Given the description of an element on the screen output the (x, y) to click on. 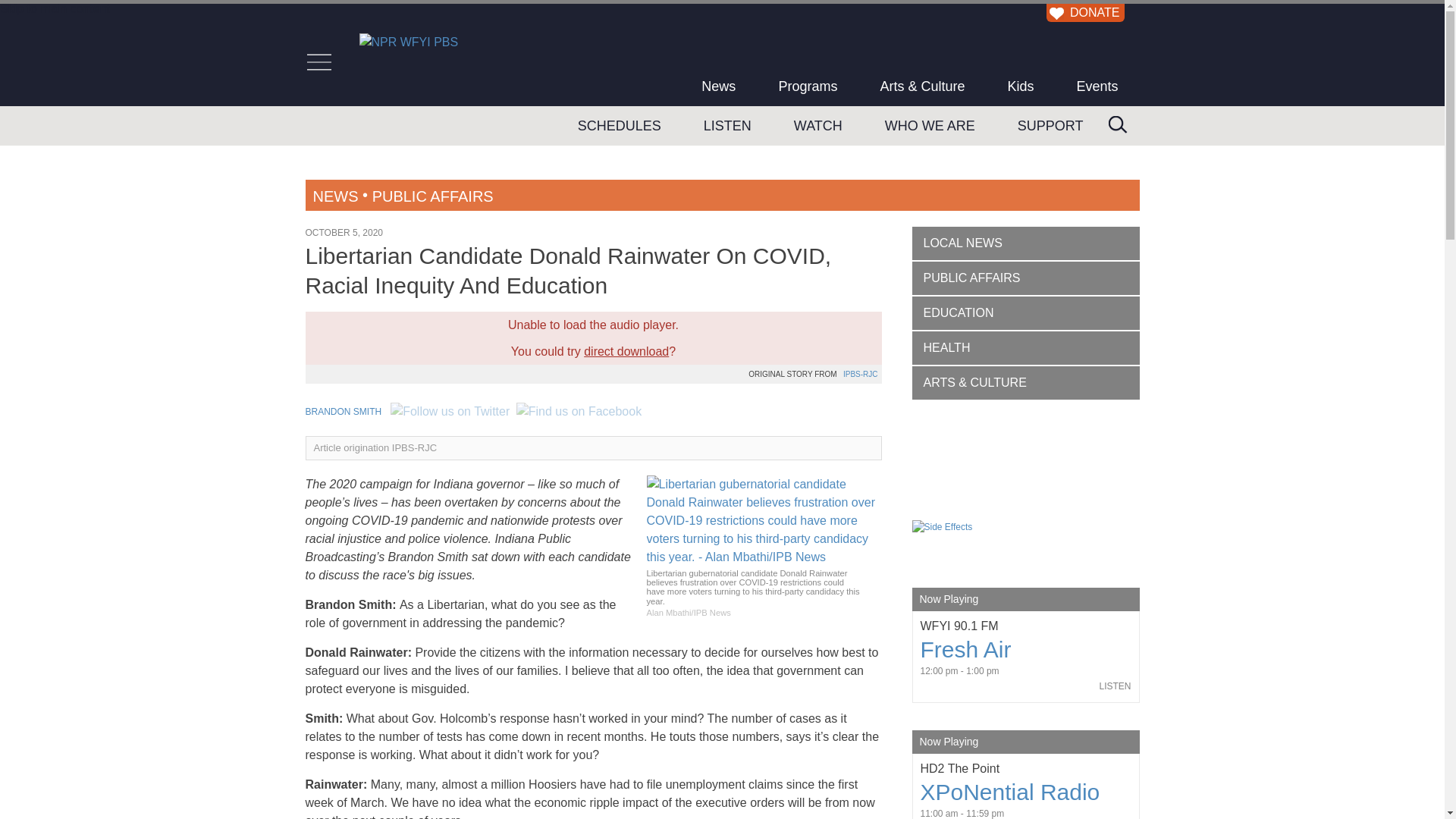
DONATE (1082, 11)
PUBLIC AFFAIRS (432, 195)
Kids (1019, 86)
Skip to main content (55, 9)
SCHEDULES (619, 125)
SUPPORT (1050, 125)
WATCH (818, 125)
WHO WE ARE (929, 125)
Programs (808, 86)
Menu (317, 61)
News (718, 86)
Events (1096, 86)
direct download (625, 350)
LISTEN (727, 125)
IPBS-RJC (860, 374)
